Given the description of an element on the screen output the (x, y) to click on. 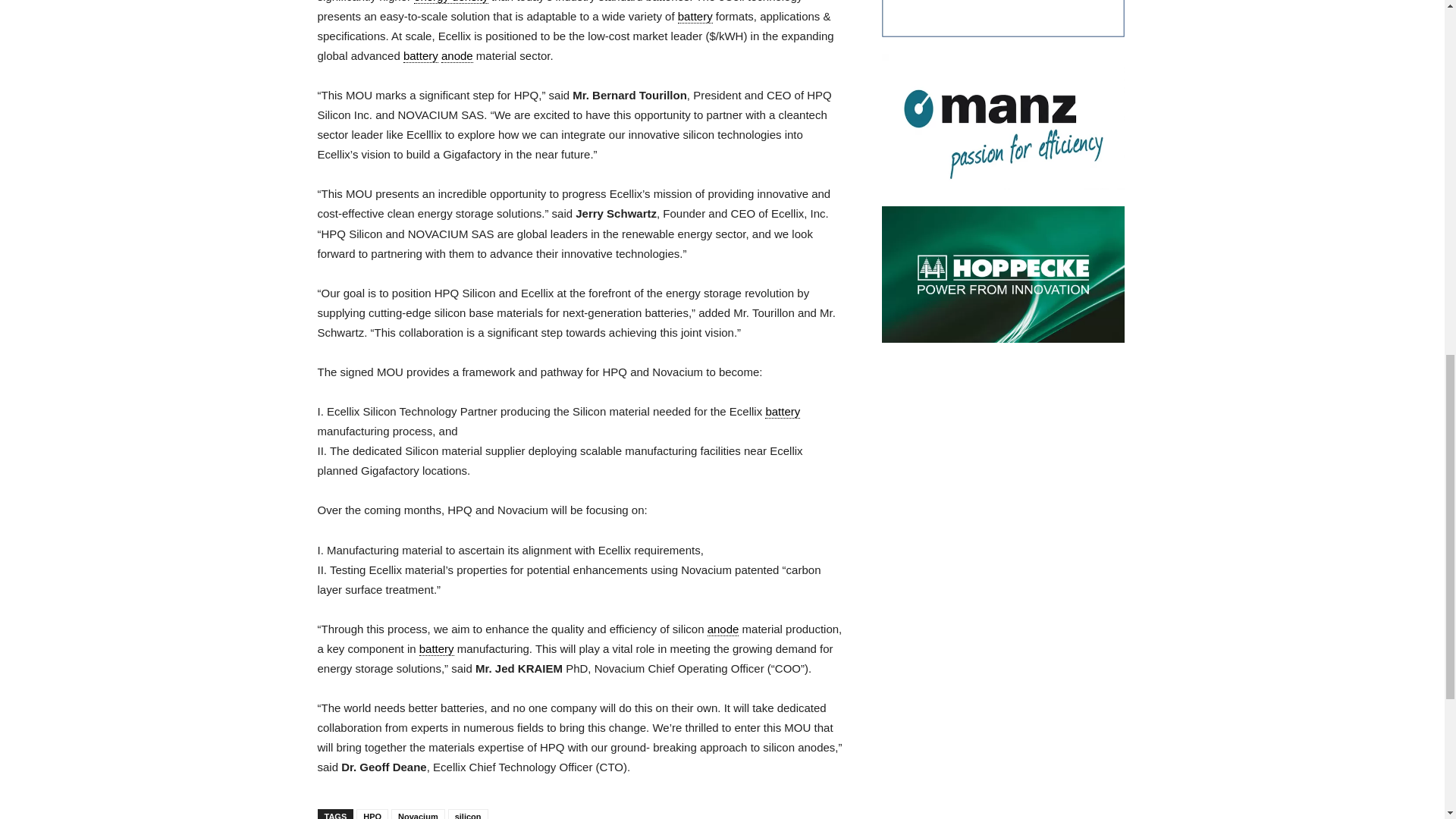
Glossary: Energy density (450, 2)
Glossary: Battery (695, 16)
